Given the description of an element on the screen output the (x, y) to click on. 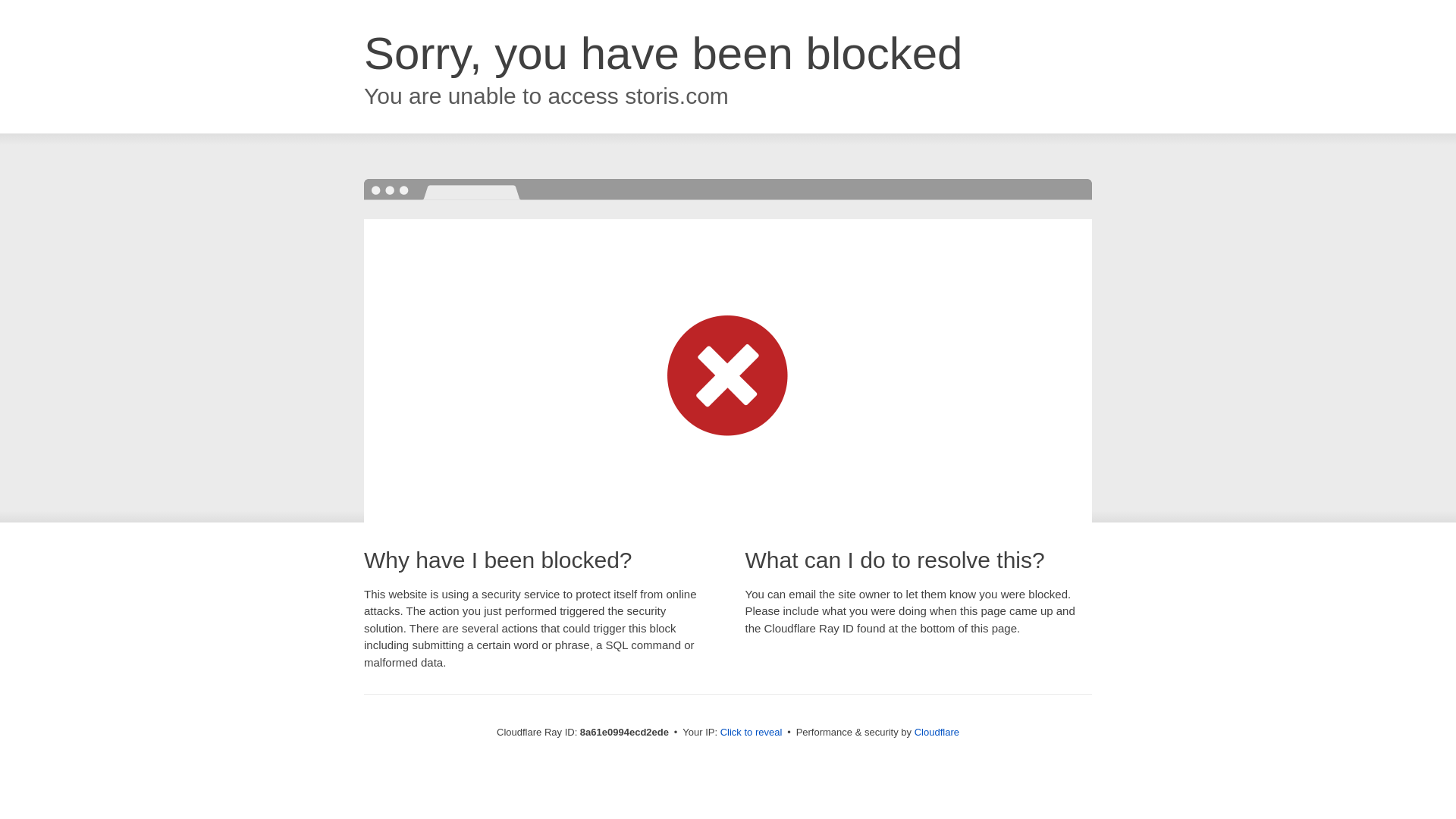
Cloudflare (936, 731)
Click to reveal (751, 732)
